Given the description of an element on the screen output the (x, y) to click on. 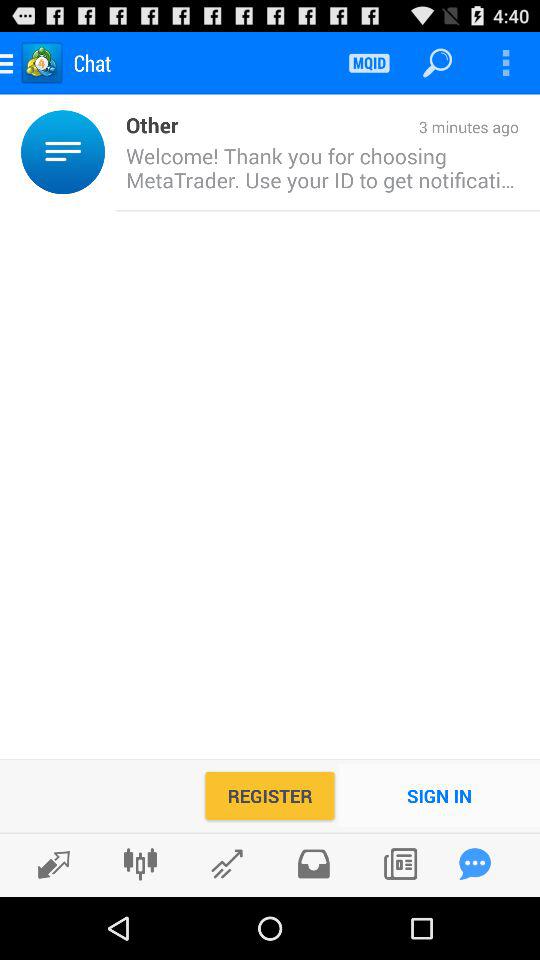
tap 3 minutes ago icon (348, 128)
